Given the description of an element on the screen output the (x, y) to click on. 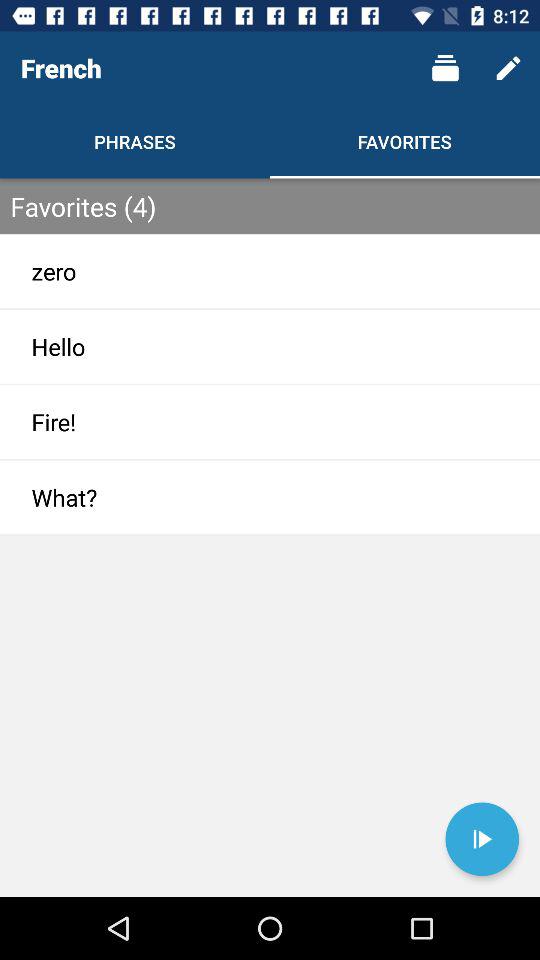
click the icon at the bottom right corner (482, 839)
